Given the description of an element on the screen output the (x, y) to click on. 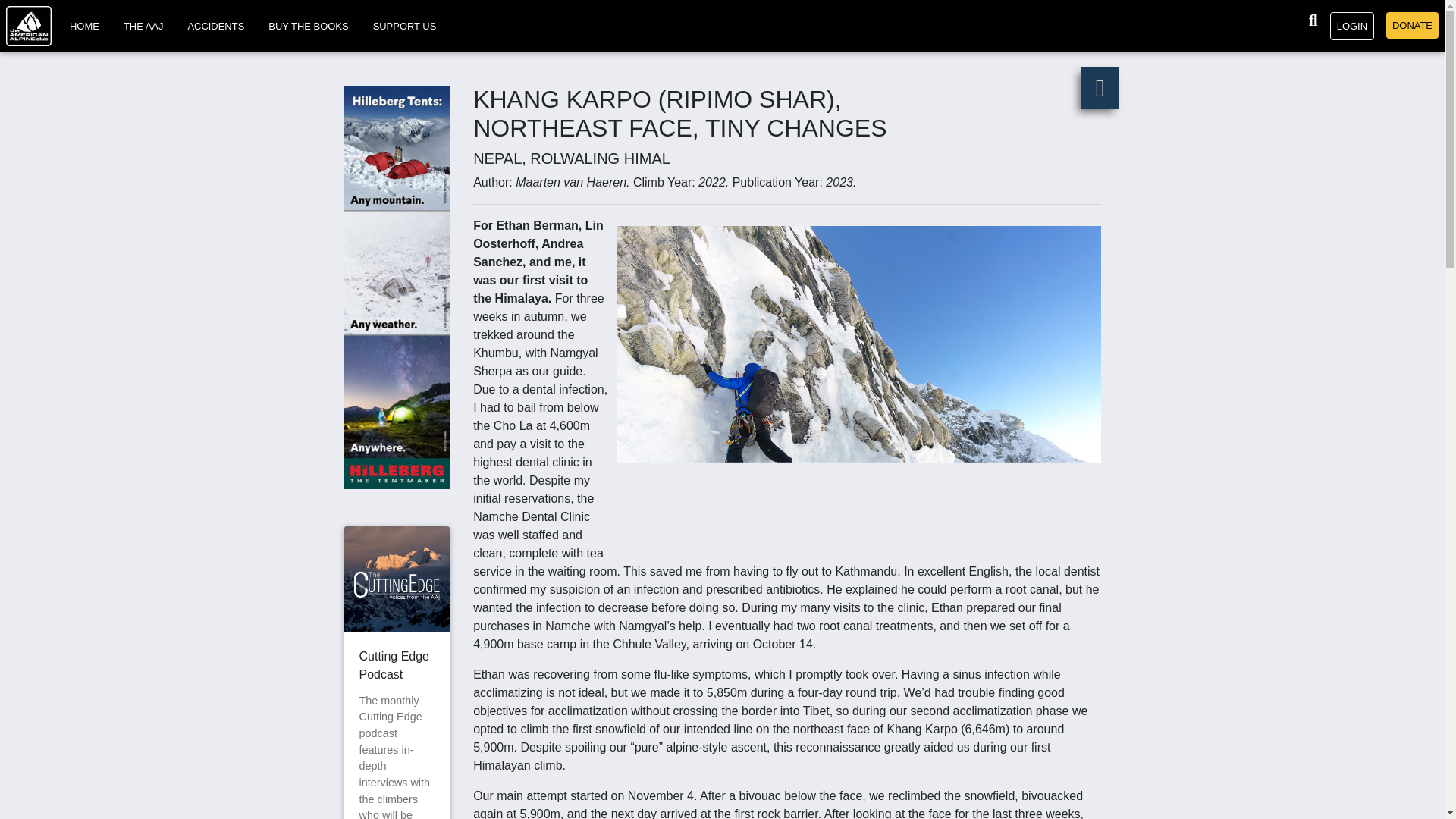
DONATE (1412, 25)
ACCIDENTS (215, 26)
SUPPORT US (404, 26)
Login (1352, 26)
HOME (84, 26)
BUY THE BOOKS (307, 26)
THE AAJ (143, 26)
LOGIN (1352, 26)
AAC Home (27, 25)
